Given the description of an element on the screen output the (x, y) to click on. 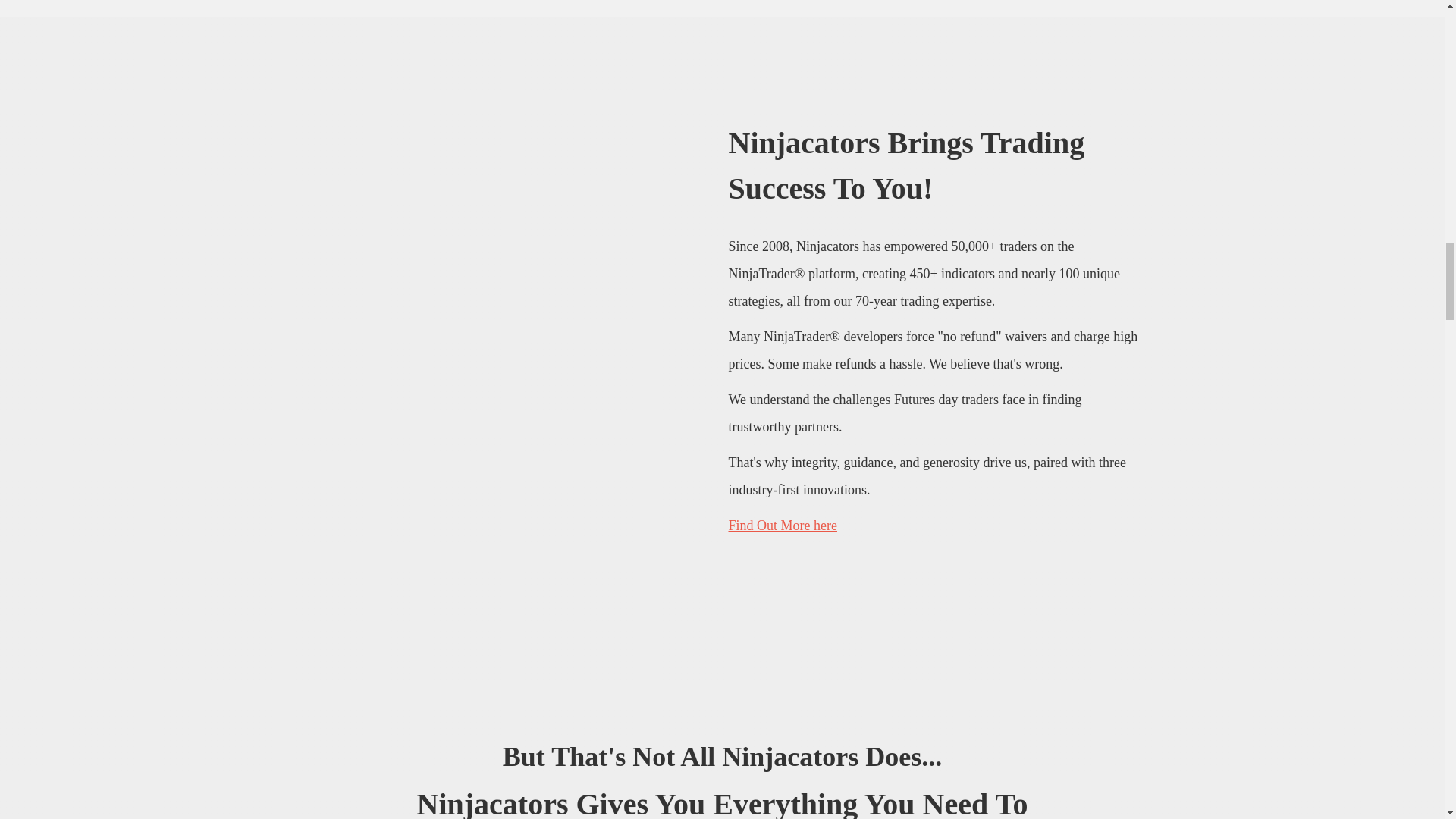
Find Out More here (781, 525)
